Given the description of an element on the screen output the (x, y) to click on. 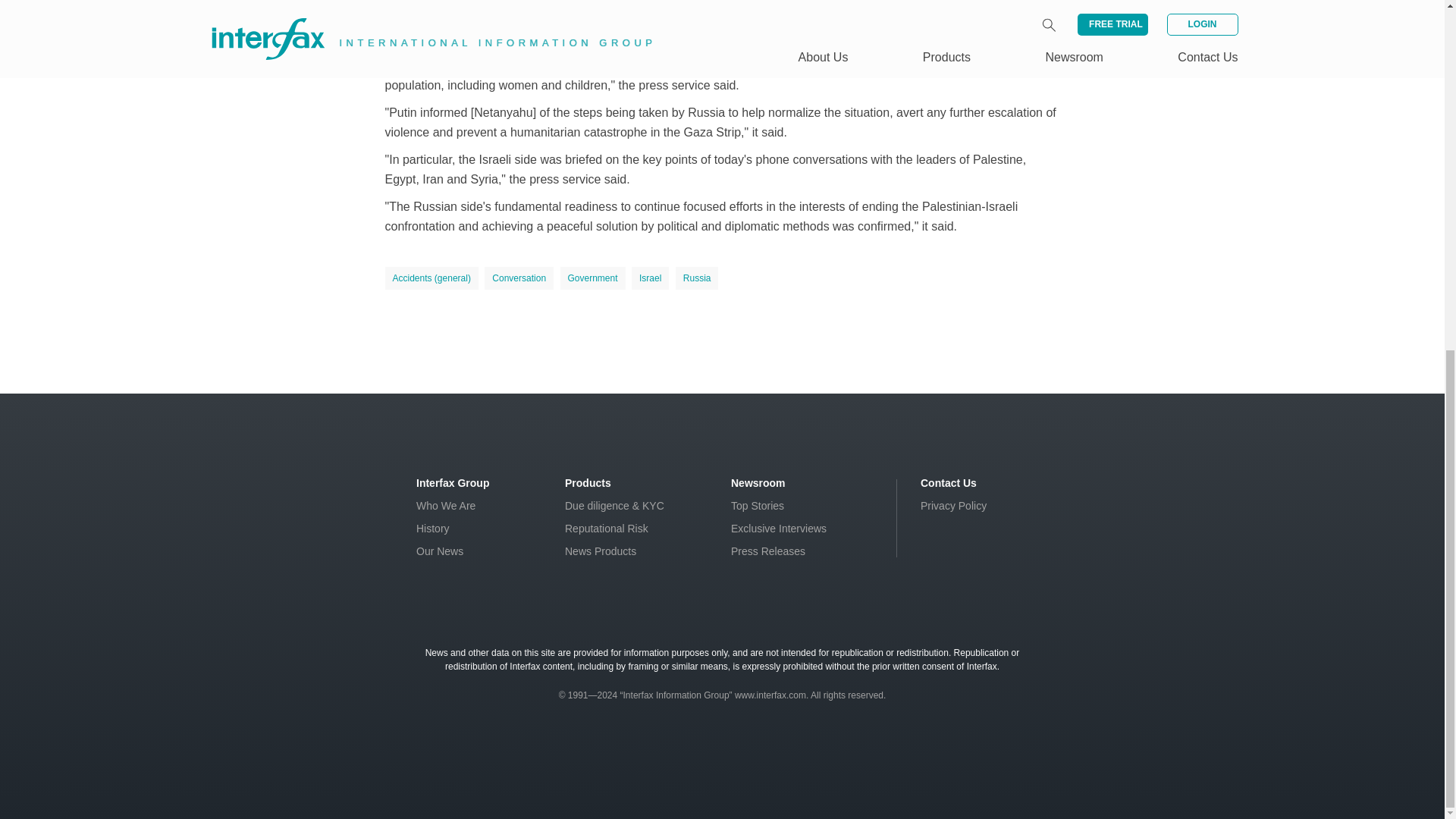
Conversation (518, 277)
Government (593, 277)
Israel (649, 277)
